Given the description of an element on the screen output the (x, y) to click on. 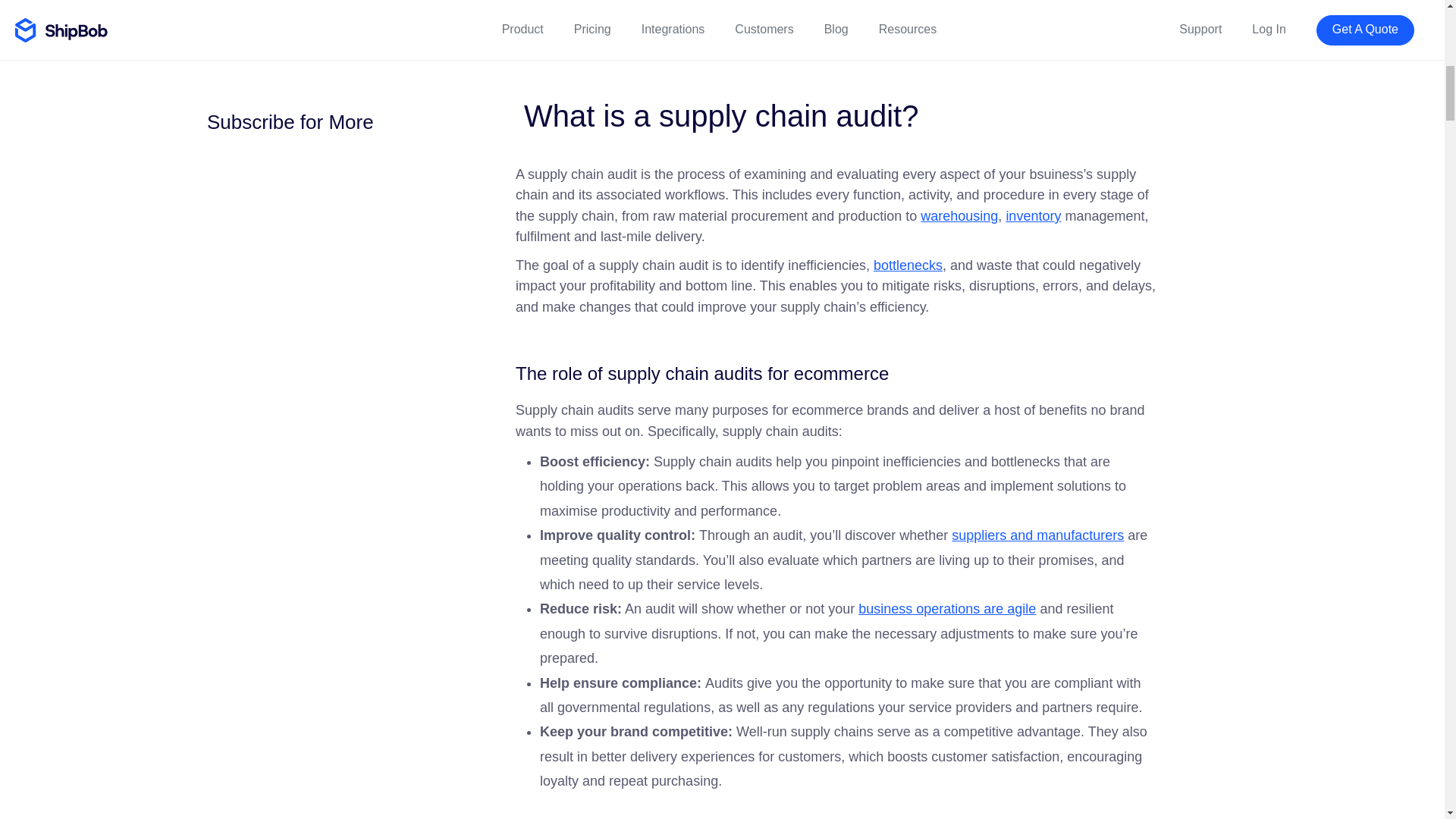
warehousing (958, 215)
business operations are agile (947, 608)
suppliers and manufacturers (1038, 534)
bottlenecks (907, 264)
inventory (1033, 215)
